Given the description of an element on the screen output the (x, y) to click on. 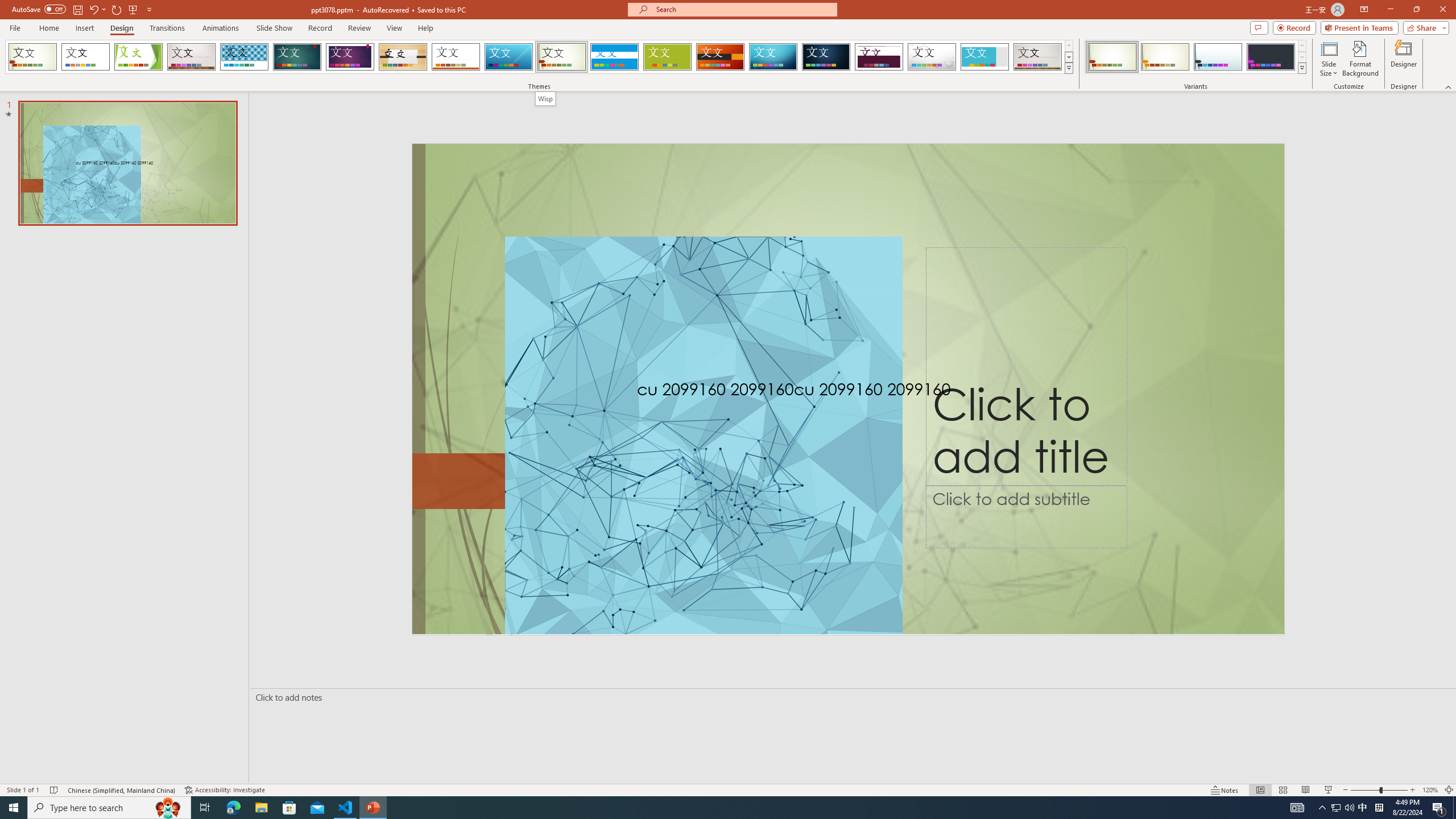
Banded Loading Preview... (614, 56)
Ion Boardroom Loading Preview... (350, 56)
Zoom Out (1365, 790)
Damask Loading Preview... (826, 56)
Customize Quick Access Toolbar (149, 9)
Designer (1403, 58)
Minimize (1390, 9)
Slide (127, 163)
Row up (1301, 45)
File Tab (15, 27)
Notes  (1225, 790)
Organic Loading Preview... (403, 56)
Share (1423, 27)
Slide Sorter (1282, 790)
